Given the description of an element on the screen output the (x, y) to click on. 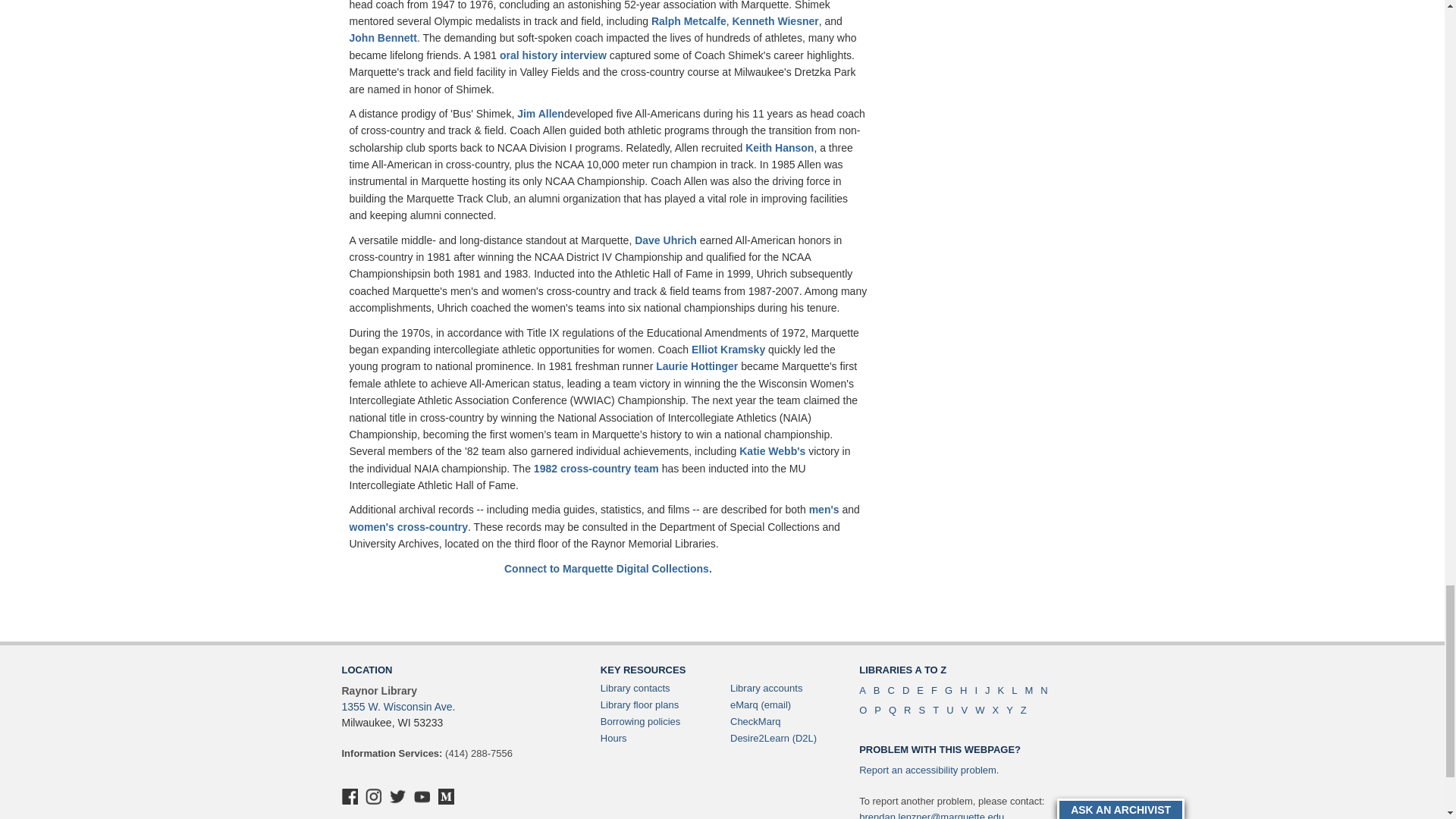
1982 cross-country team (596, 468)
women's cross-country (408, 526)
Connect to Marquette Digital Collections. (607, 568)
John Bennett (382, 37)
Laurie Hottinger (697, 366)
Jim Allen (540, 113)
Keith Hanson (779, 147)
oral history interview (553, 55)
Dave Uhrich (665, 240)
Elliot Kramsky (728, 349)
